Given the description of an element on the screen output the (x, y) to click on. 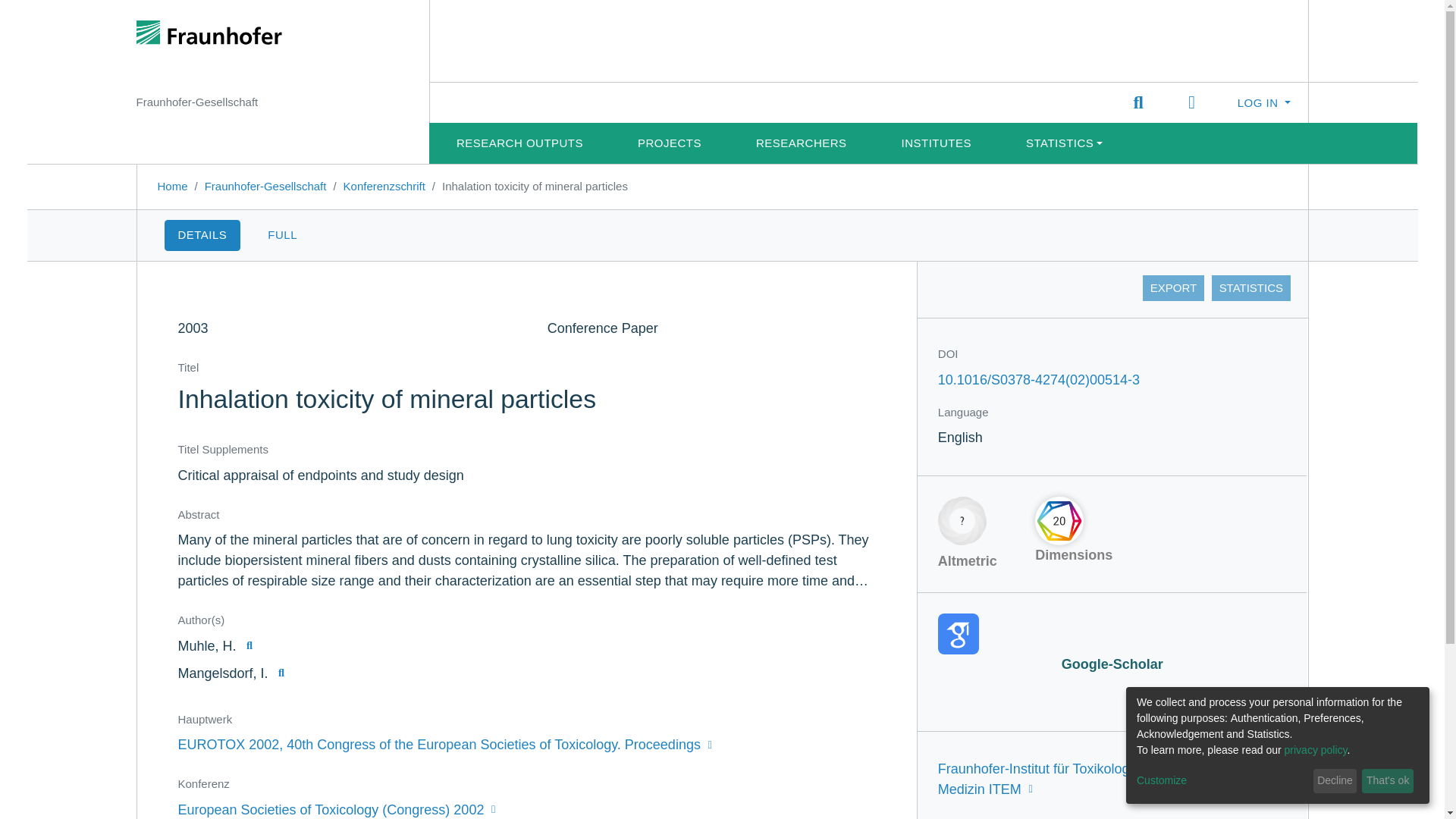
FULL (282, 235)
Researchers (802, 142)
Projects (669, 142)
INSTITUTES (936, 142)
Fraunhofer-Gesellschaft (265, 185)
DETAILS (201, 235)
PROJECTS (669, 142)
privacy policy (1316, 749)
Details (201, 235)
20 (1059, 520)
Google-Scholar (1112, 643)
Konferenzschrift (384, 185)
Full (282, 235)
STATISTICS (1250, 288)
